Given the description of an element on the screen output the (x, y) to click on. 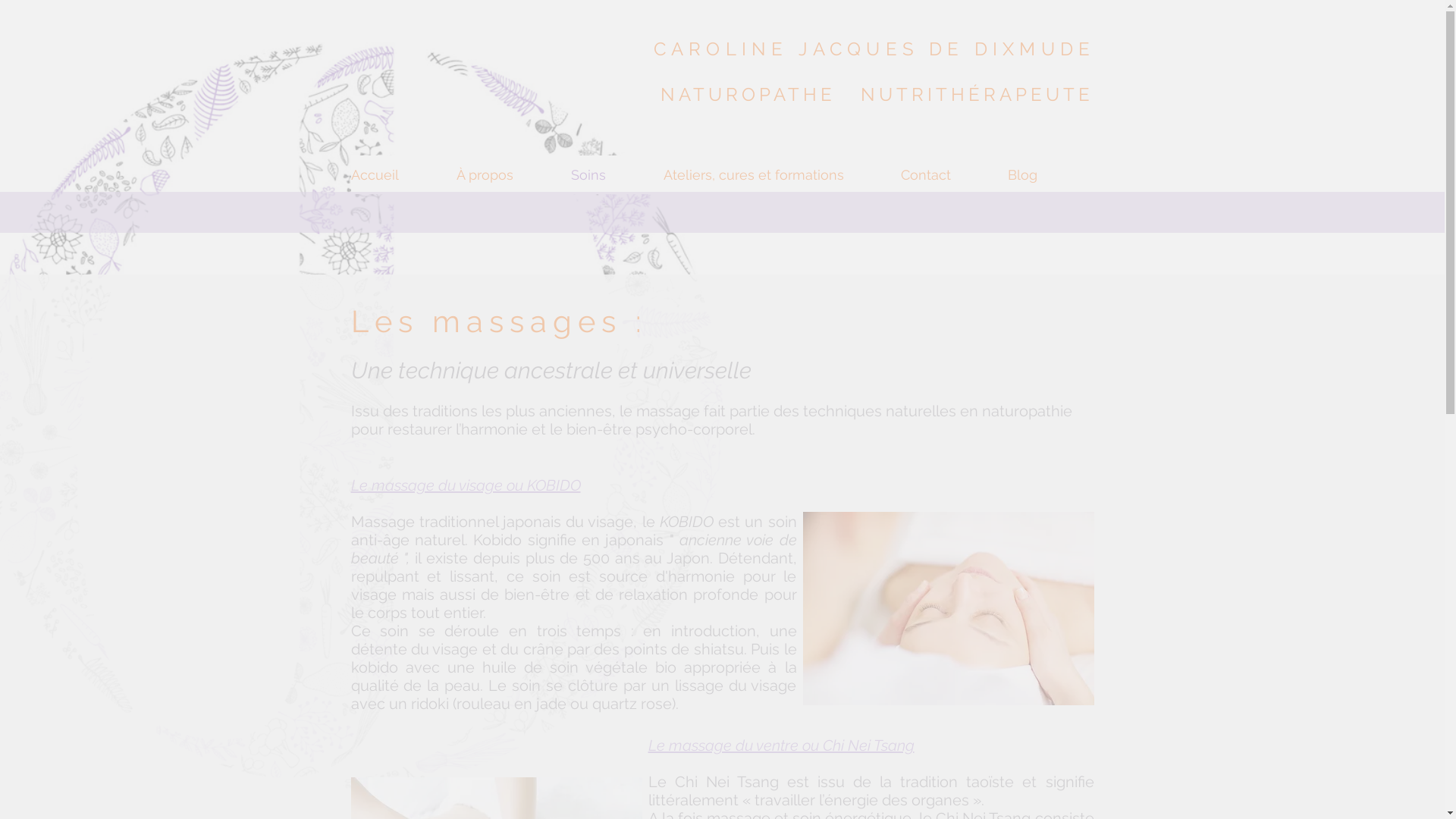
 CAROLINE JACQUES DE DIXMUDE Element type: text (869, 48)
  Element type: text (1099, 48)
Soins Element type: text (616, 174)
Contact Element type: text (953, 174)
Blog Element type: text (1050, 174)
Accueil Element type: text (402, 174)
Ateliers, cures et formations Element type: text (781, 174)
